Given the description of an element on the screen output the (x, y) to click on. 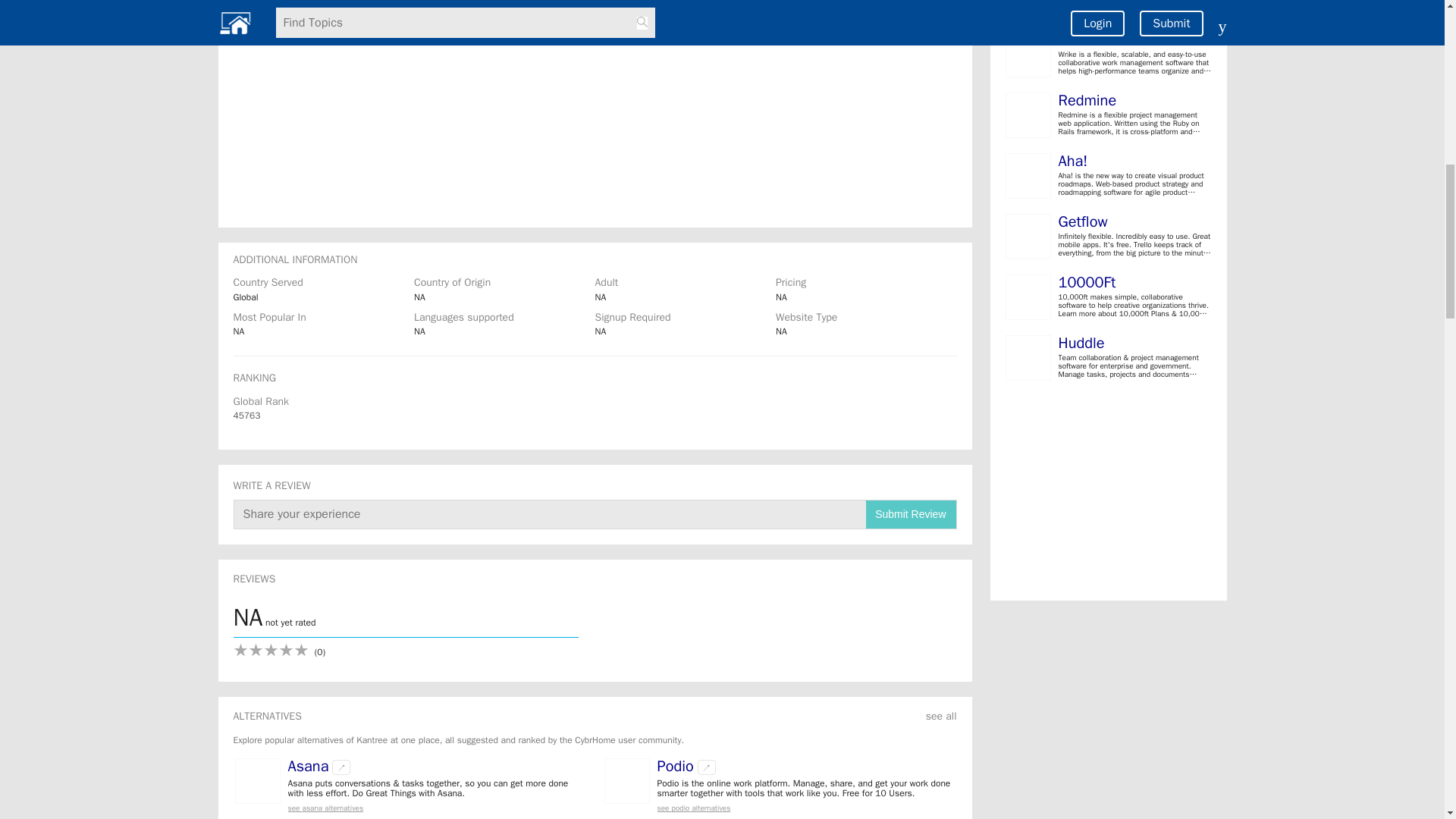
see all (941, 715)
see asana alternatives (437, 808)
Redmine (1087, 99)
Podio (674, 765)
Submit Review (909, 514)
Advertisement (1108, 494)
Aha! (1072, 160)
Asana (308, 765)
Advertisement (1108, 710)
see podio alternatives (805, 808)
Wrike (1076, 39)
